Given the description of an element on the screen output the (x, y) to click on. 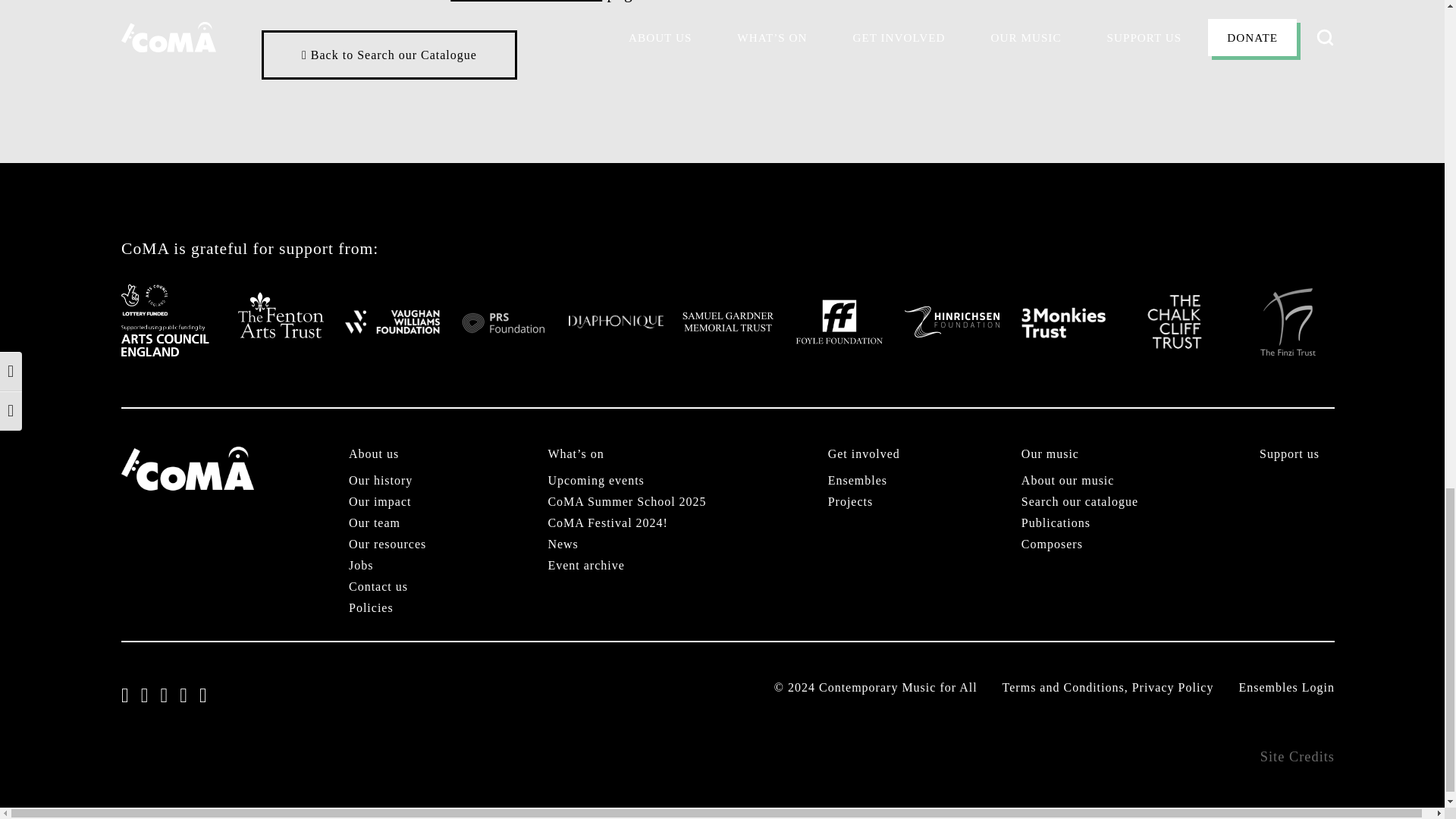
terms and conditions (525, 1)
Back to Search our Catalogue (389, 54)
